Given the description of an element on the screen output the (x, y) to click on. 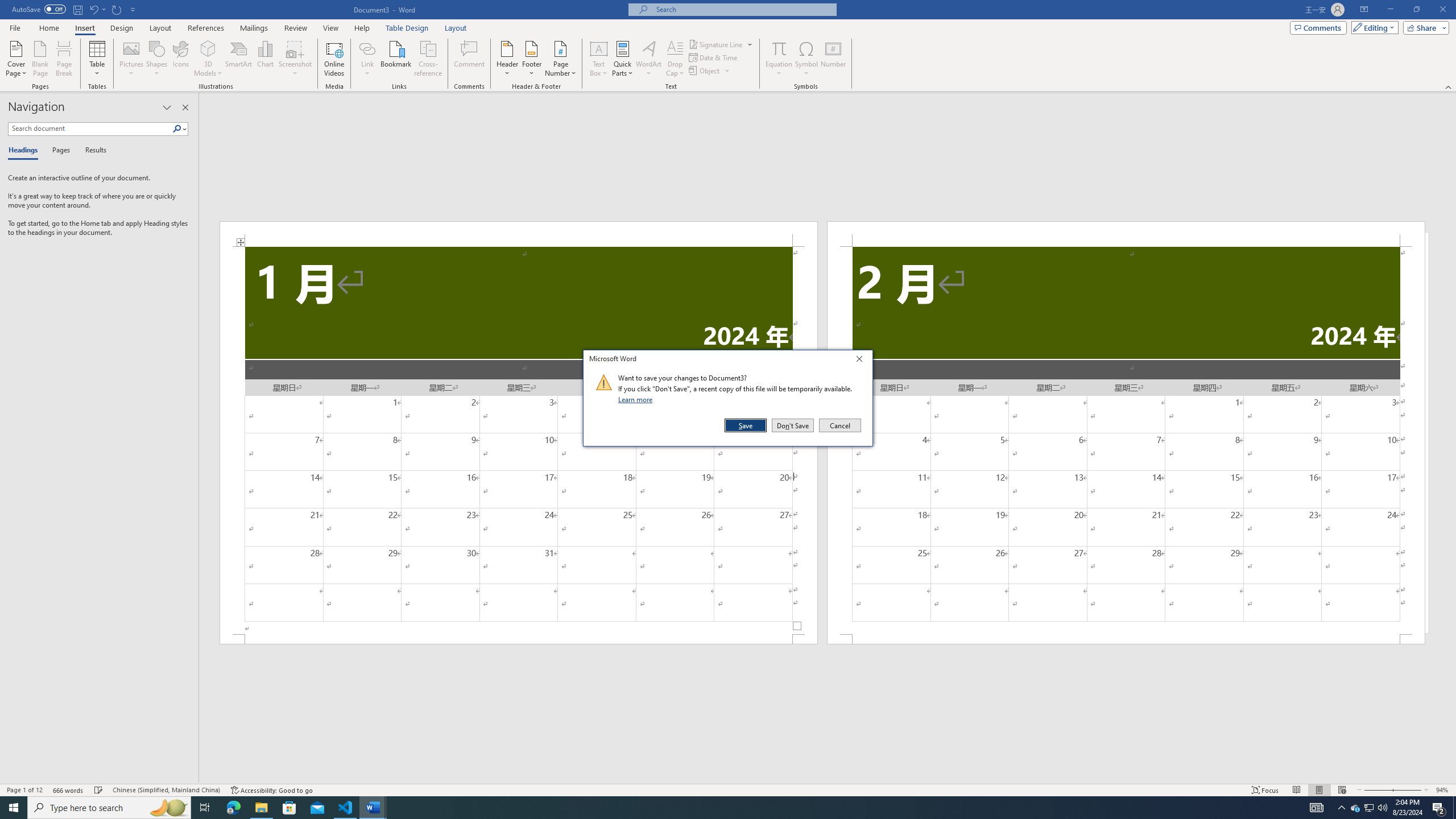
Learn more (636, 399)
Text Box (598, 58)
Comment (469, 58)
